Given the description of an element on the screen output the (x, y) to click on. 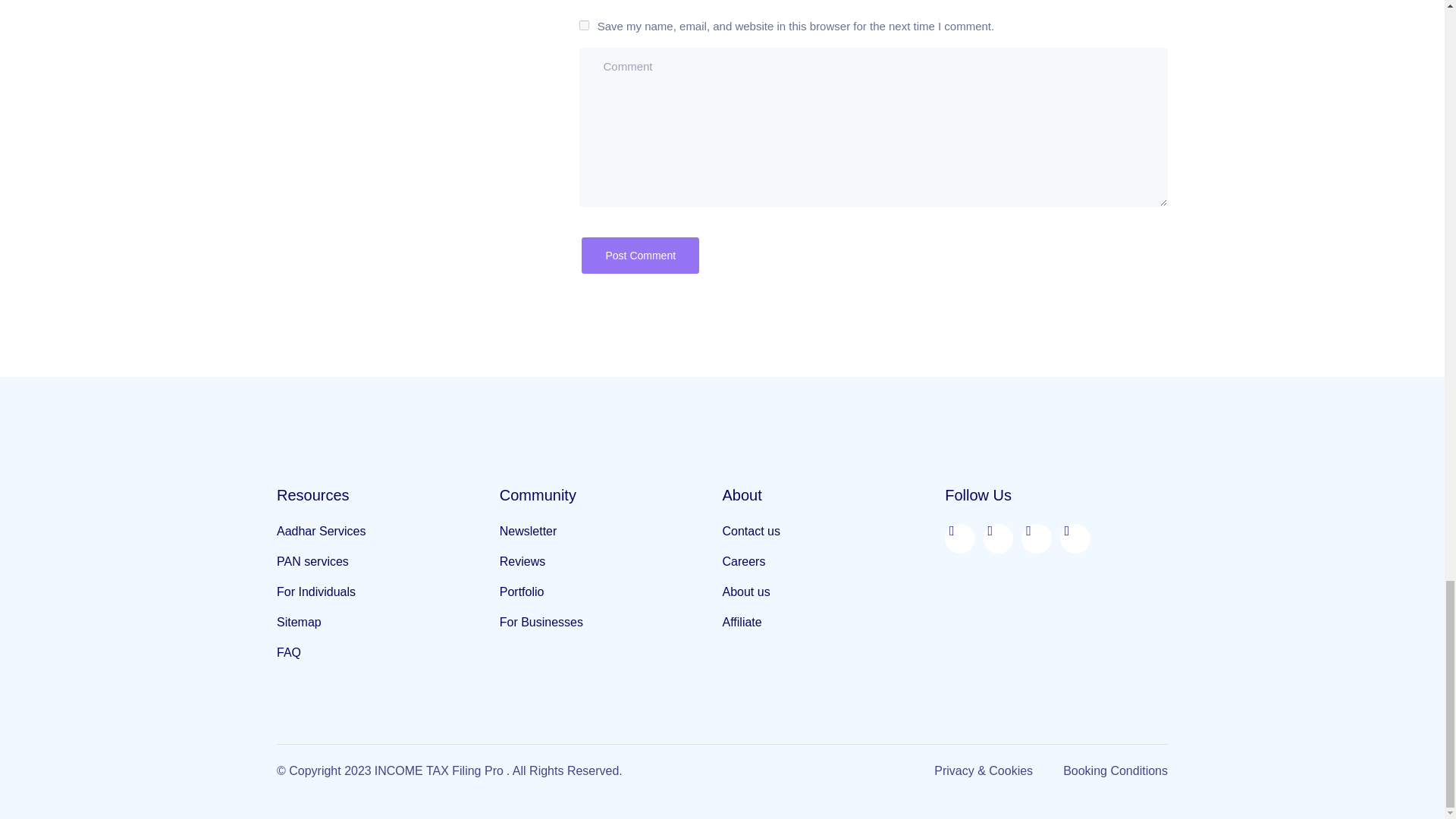
FAQ (387, 653)
Newsletter (610, 531)
About us (833, 592)
PAN services (387, 562)
For Individuals (387, 592)
Post Comment (639, 255)
Careers (833, 562)
Contact us (833, 531)
Reviews (610, 562)
yes (584, 25)
Affiliate (833, 622)
Sitemap (387, 622)
Aadhar Services (387, 531)
Post Comment (639, 255)
Portfolio (610, 592)
